Given the description of an element on the screen output the (x, y) to click on. 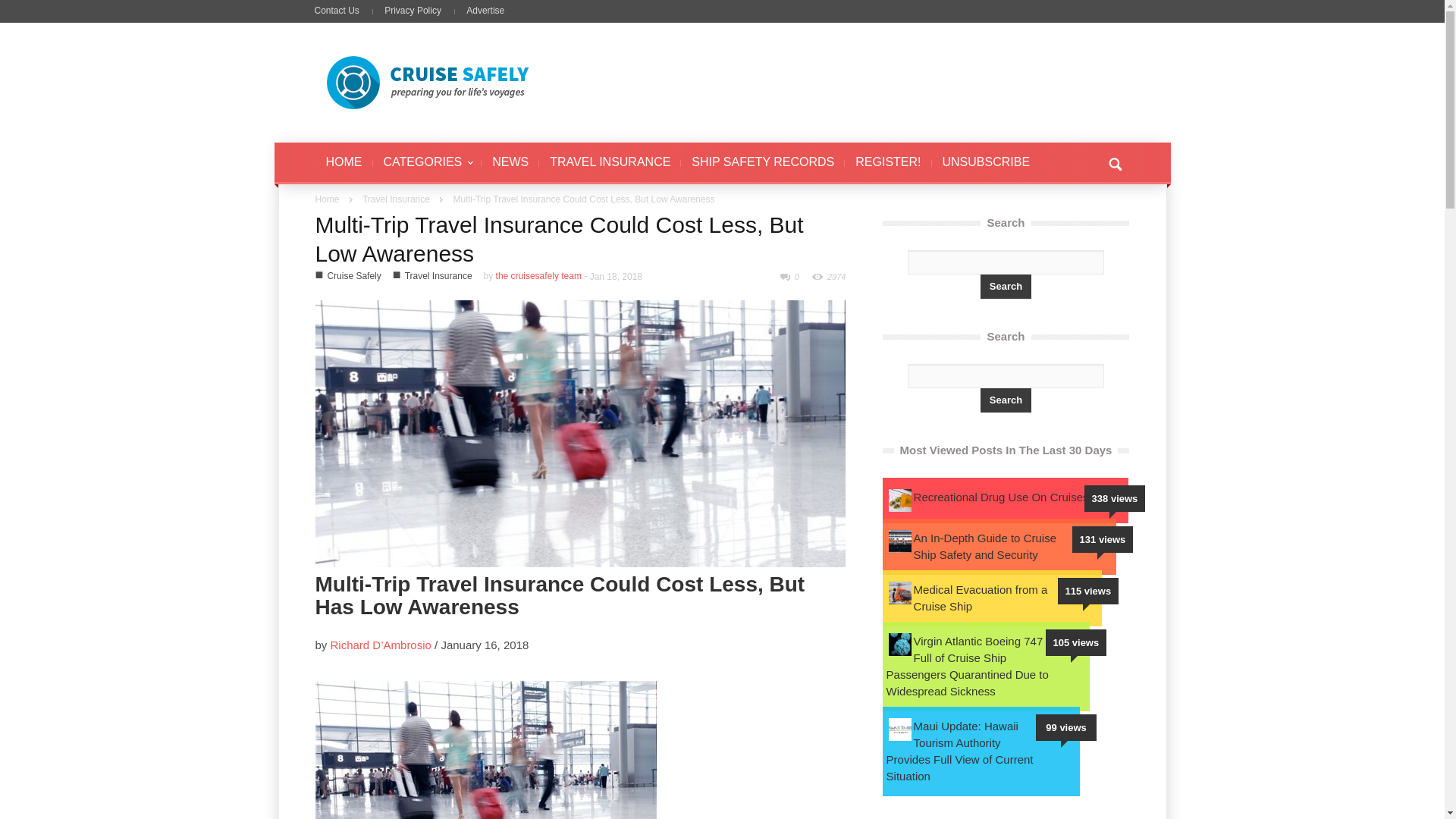
Travel Insurance (437, 276)
HOME (343, 163)
View all posts in Travel Insurance (395, 199)
Travel Insurance (395, 199)
Home (327, 199)
Search (1004, 400)
Search (1004, 286)
TRAVEL INSURANCE (609, 163)
Contact Us (341, 9)
Advertise (484, 9)
